Given the description of an element on the screen output the (x, y) to click on. 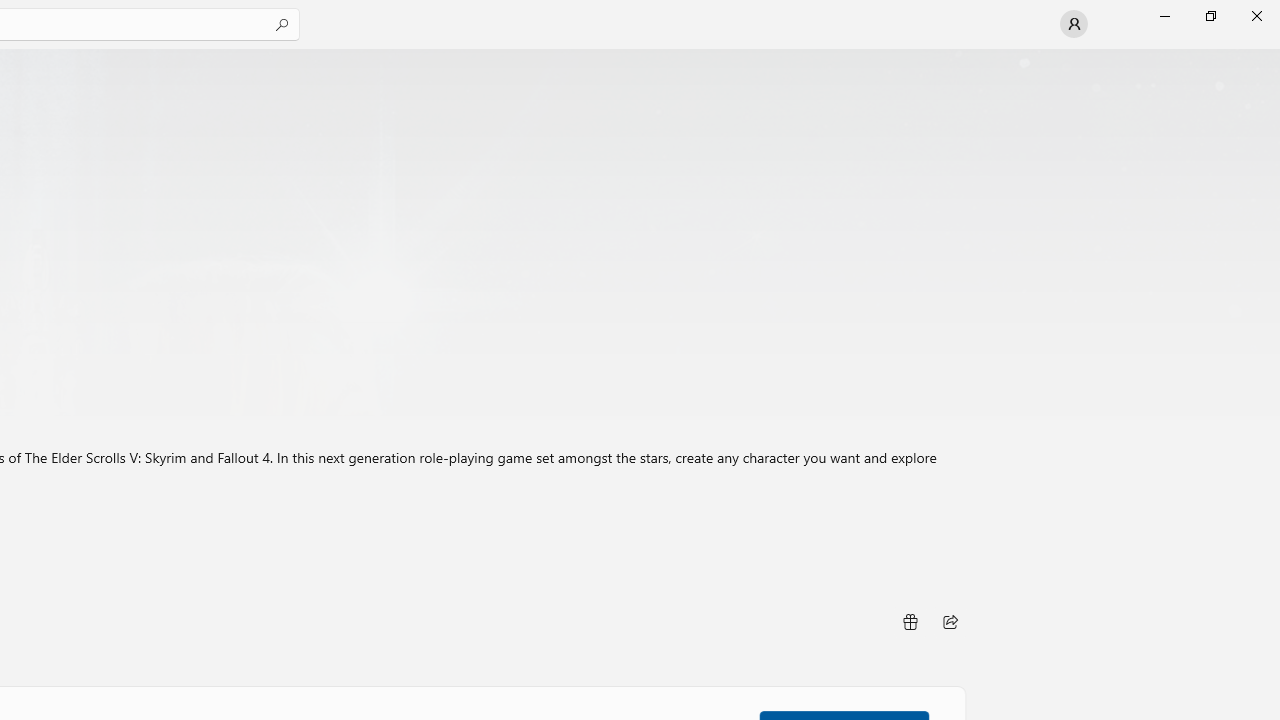
Buy as gift (909, 621)
Share (950, 621)
Minimize Microsoft Store (1164, 15)
Close Microsoft Store (1256, 15)
Restore Microsoft Store (1210, 15)
User profile (1073, 24)
